Given the description of an element on the screen output the (x, y) to click on. 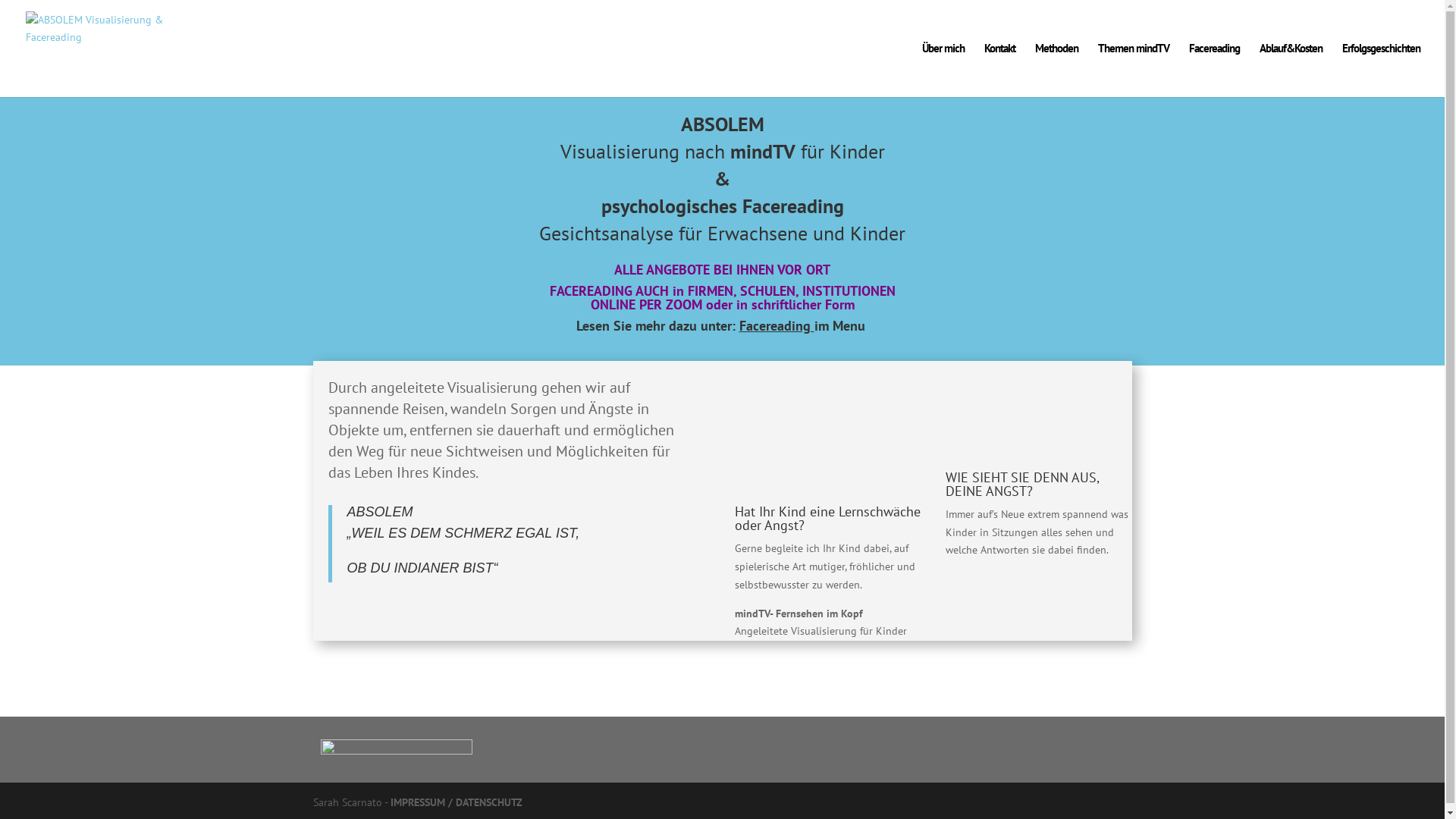
Methoden Element type: text (1056, 70)
IMPRESSUM / DATENSCHUTZ Element type: text (455, 802)
Kontakt Element type: text (999, 70)
Facereading Element type: text (1214, 70)
Erfolgsgeschichten Element type: text (1381, 70)
Ablauf&Kosten Element type: text (1290, 70)
Themen mindTV Element type: text (1133, 70)
